Given the description of an element on the screen output the (x, y) to click on. 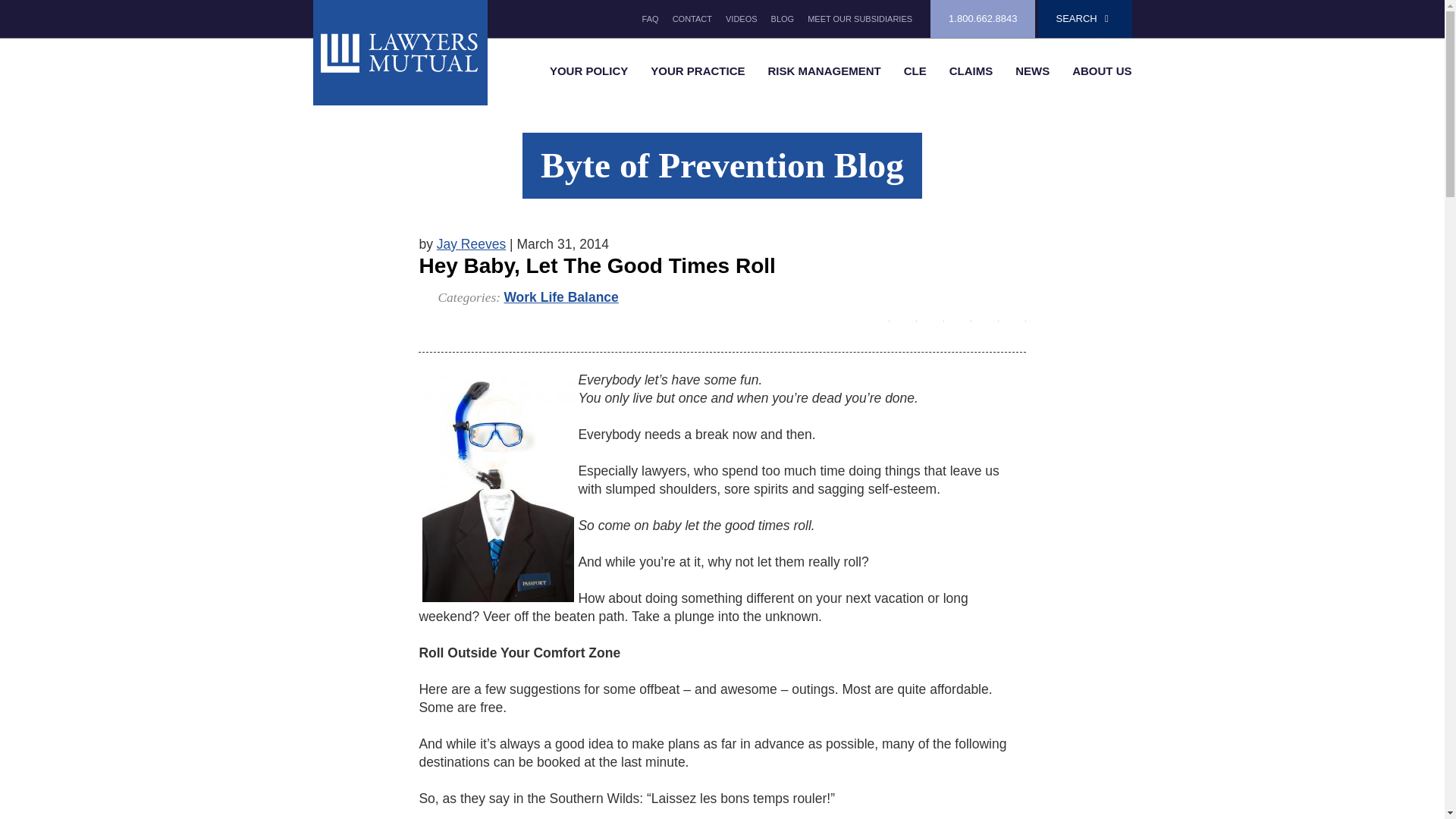
CLAIMS (970, 71)
ABOUT US (1101, 71)
RISK MANAGEMENT (823, 71)
YOUR PRACTICE (697, 71)
YOUR POLICY (588, 71)
CLE (914, 71)
NEWS (1032, 71)
